Given the description of an element on the screen output the (x, y) to click on. 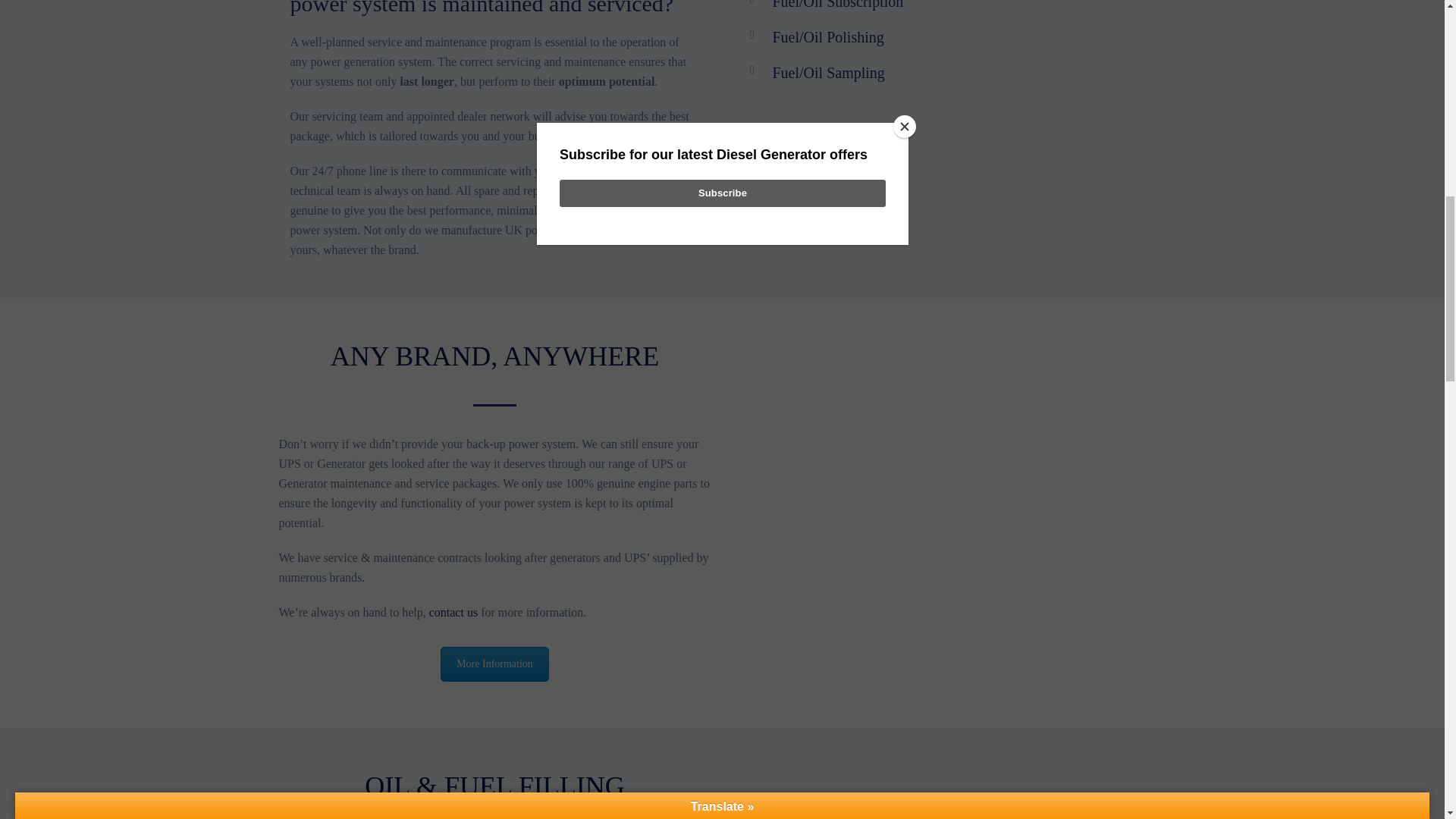
Contact Us (494, 664)
